Given the description of an element on the screen output the (x, y) to click on. 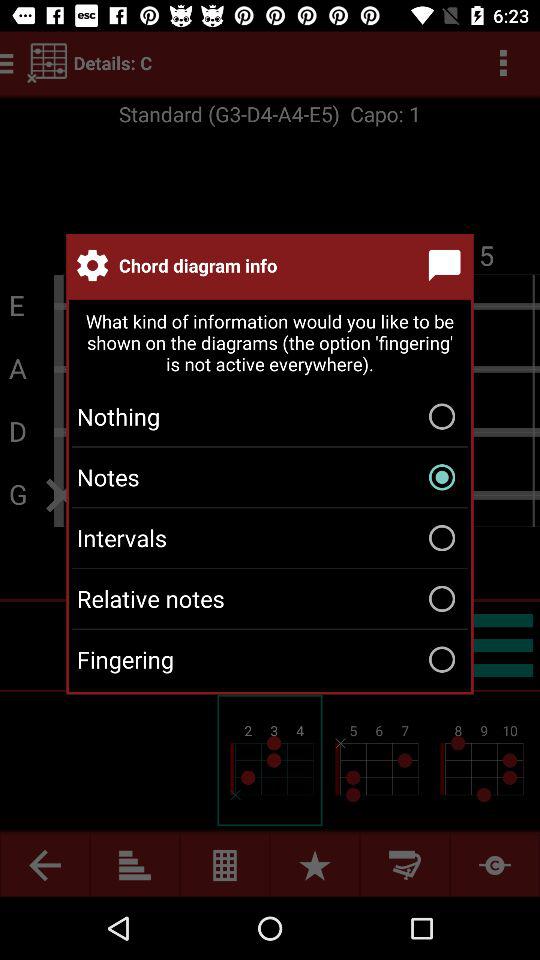
turn off the relative notes item (269, 598)
